Given the description of an element on the screen output the (x, y) to click on. 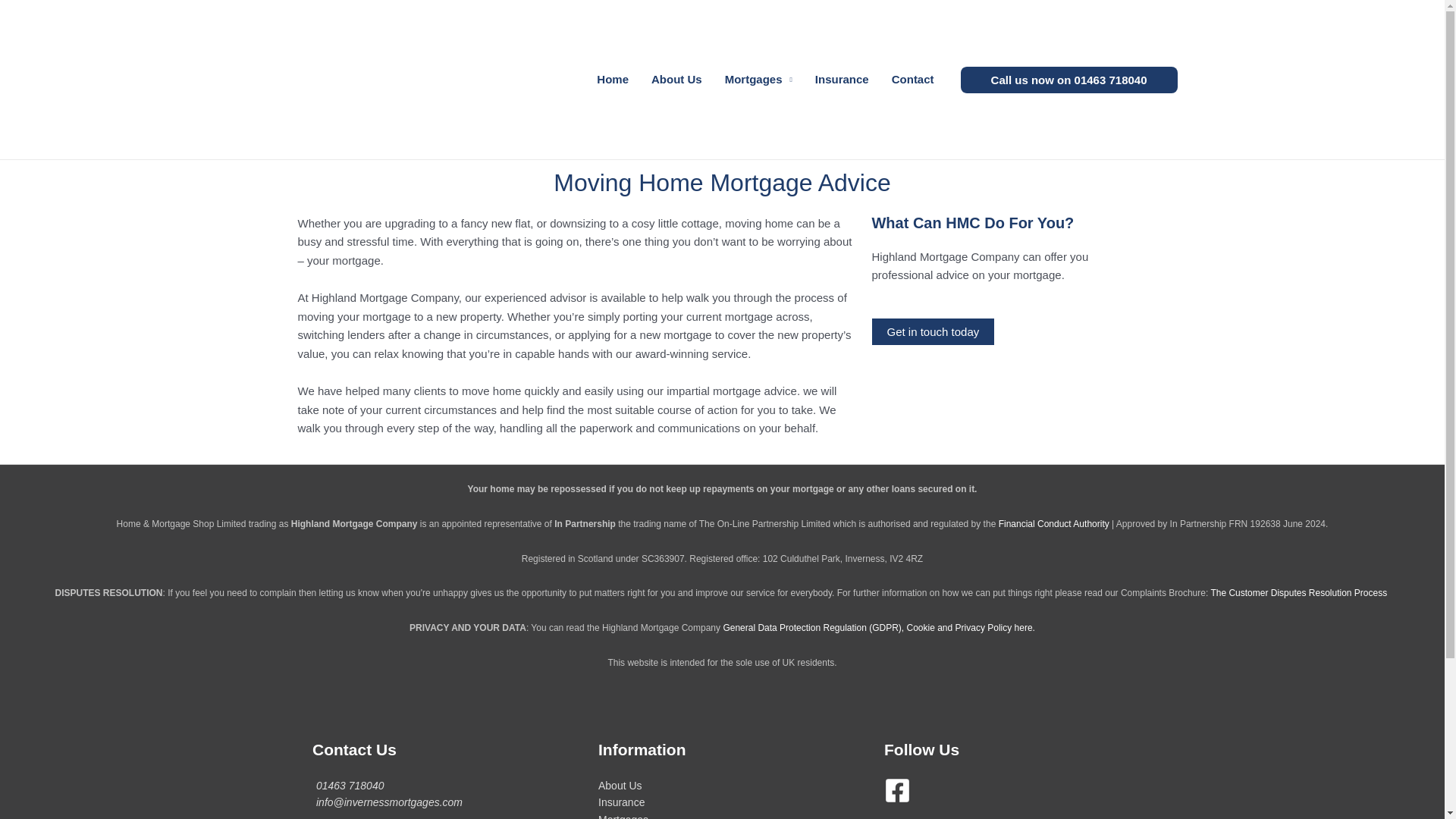
The Customer Disputes Resolution Process  (1298, 593)
Get in touch today (933, 331)
Mortgages (758, 79)
Call us now on 01463 718040 (1068, 79)
The Customer Disputes Resolution Process (1298, 593)
Insurance (841, 79)
About Us (676, 79)
Financial Conduct Authority (1053, 523)
01463 718040 (349, 785)
About Us (620, 785)
